Given the description of an element on the screen output the (x, y) to click on. 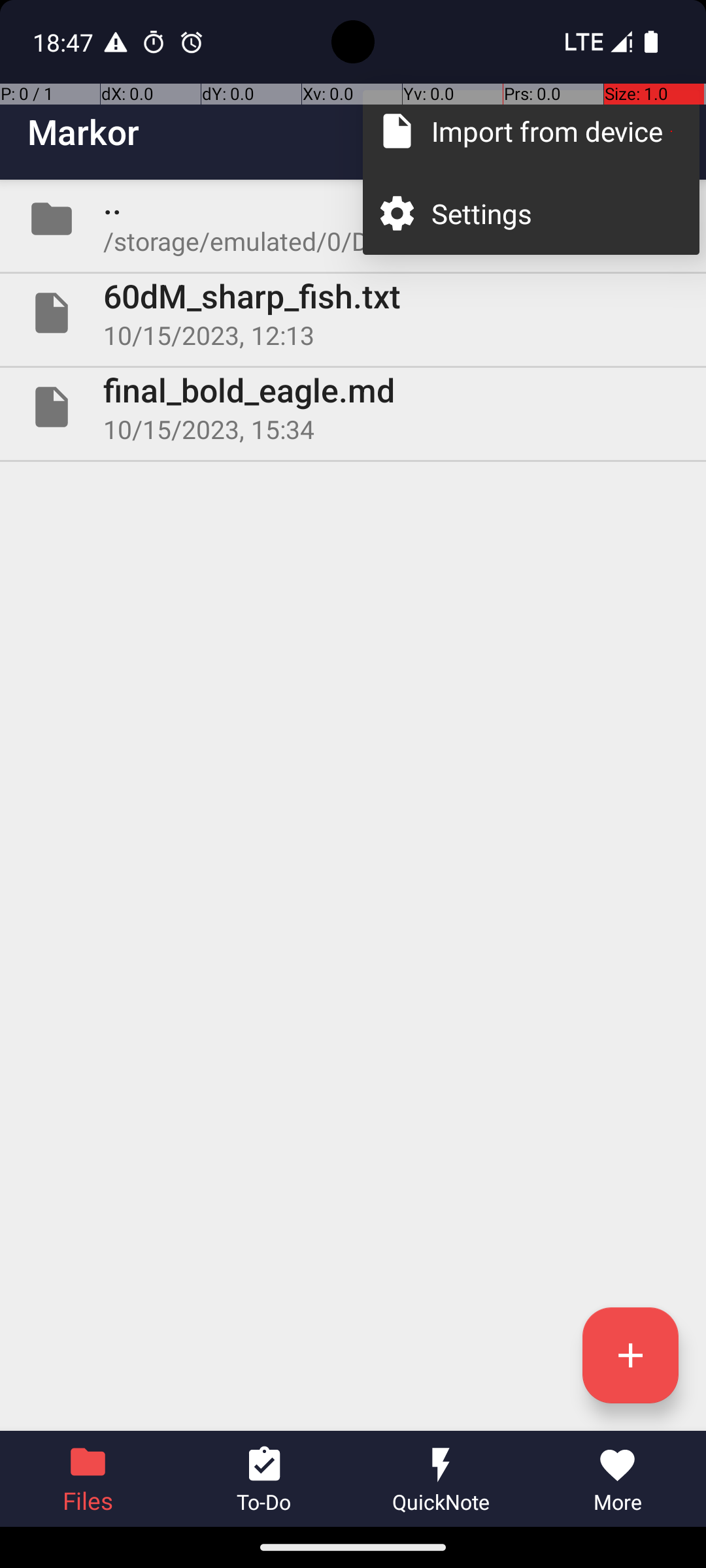
Import from device Element type: android.widget.TextView (551, 130)
18:47 Element type: android.widget.TextView (64, 41)
Clock notification: Upcoming alarm Element type: android.widget.ImageView (191, 41)
